Given the description of an element on the screen output the (x, y) to click on. 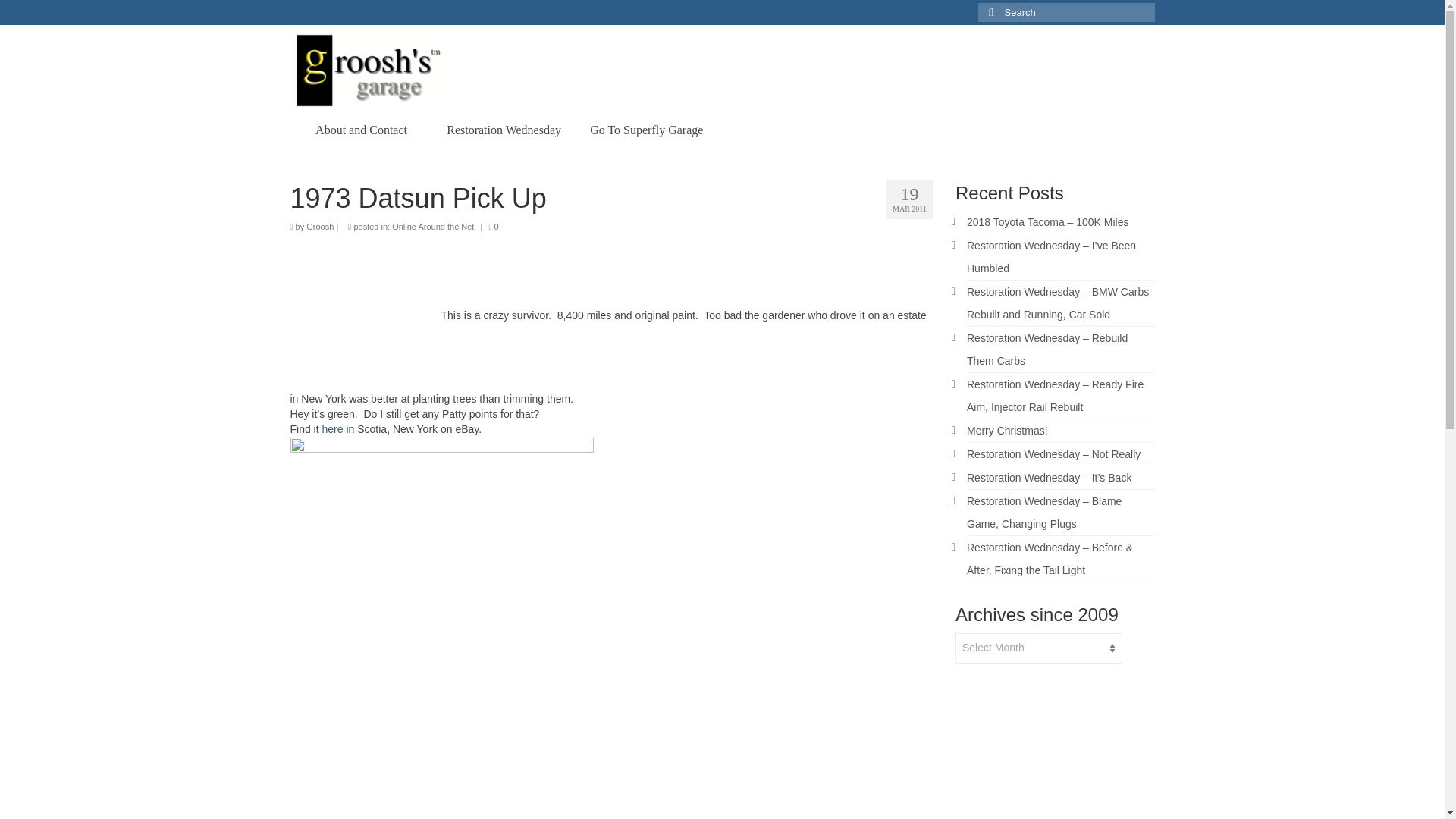
About and Contact (360, 130)
About (360, 130)
Restoration Wednesday (503, 130)
